Given the description of an element on the screen output the (x, y) to click on. 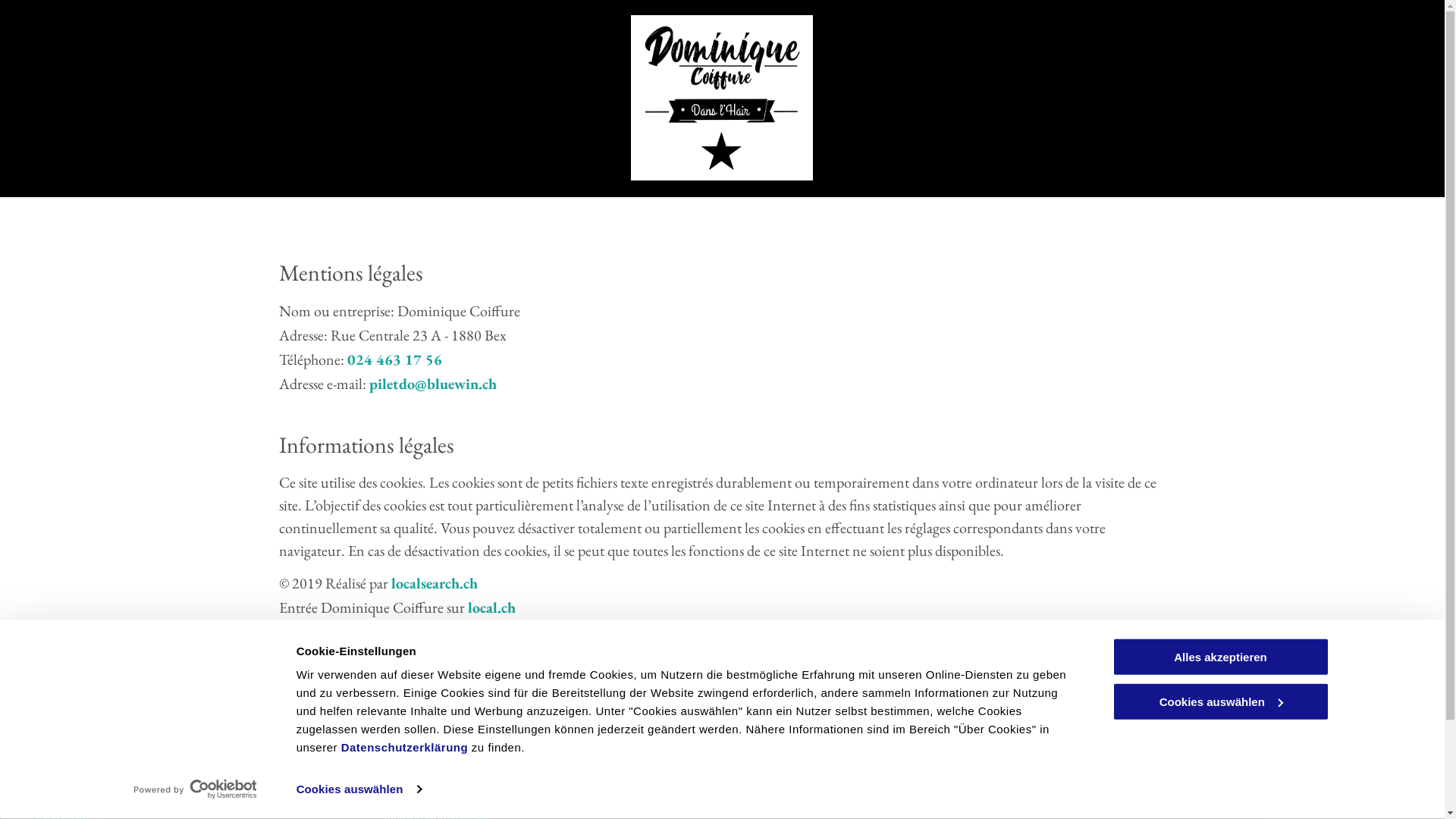
024 463 17 56 Element type: text (422, 774)
luewin.ch Element type: text (465, 383)
Alles akzeptieren Element type: text (1219, 656)
localsearch.ch Element type: text (434, 583)
local.ch Element type: text (490, 607)
024 463 17 56 Element type: text (394, 359)
search.ch Element type: text (495, 631)
piletdo@b Element type: text (401, 383)
